Given the description of an element on the screen output the (x, y) to click on. 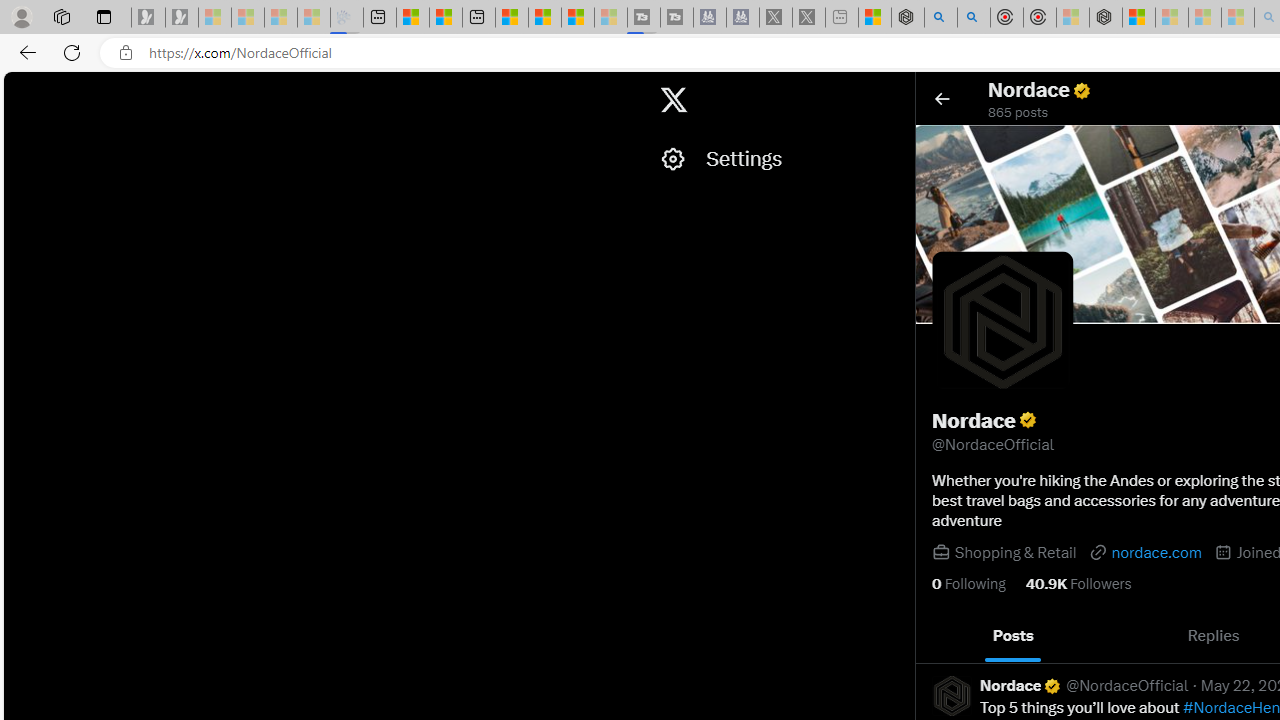
Previous (938, 636)
Nordace - Nordace Siena Is Not An Ordinary Backpack (1106, 17)
